Given the description of an element on the screen output the (x, y) to click on. 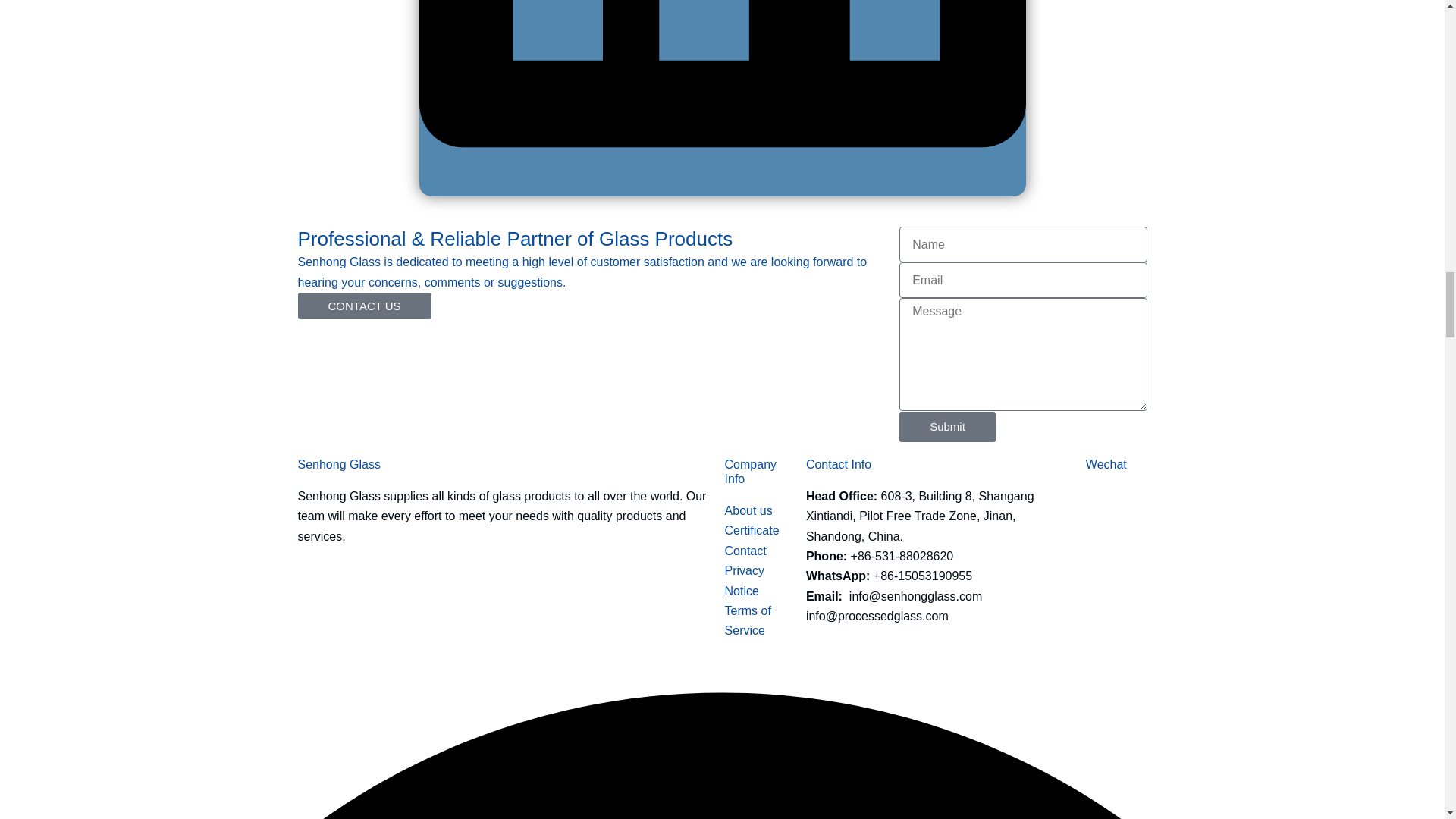
Submit (947, 426)
wechat ID (1116, 516)
